Given the description of an element on the screen output the (x, y) to click on. 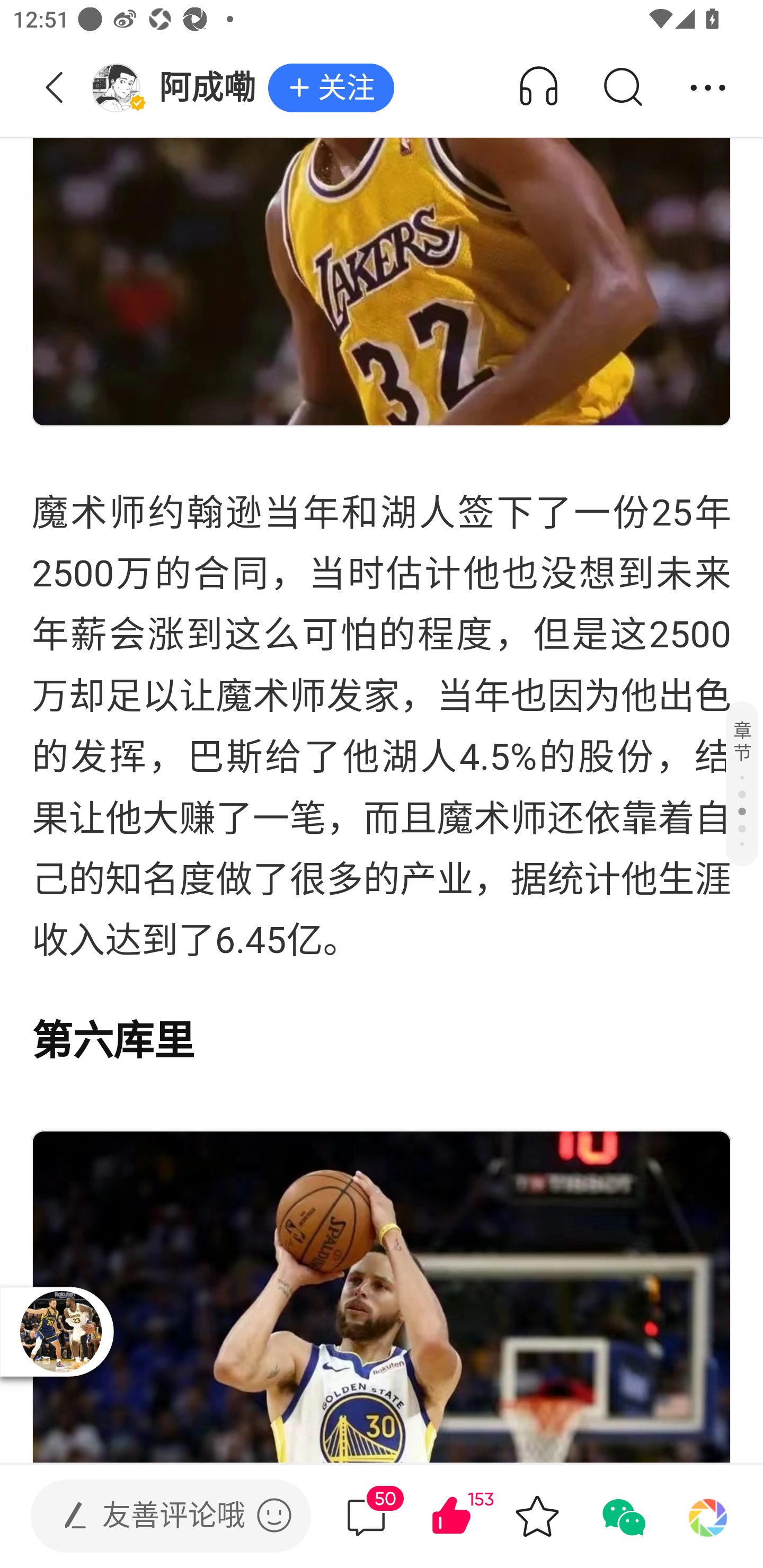
新闻图片 (381, 213)
阿成嘞 (179, 87)
搜索  (622, 87)
分享  (707, 87)
 返回 (54, 87)
 关注 (330, 88)
章节 (741, 782)
新闻图片 (381, 1296)
播放器 (60, 1331)
发表评论  友善评论哦 发表评论  (155, 1516)
50评论  50 评论 (365, 1516)
已赞 (476, 1516)
收藏  (536, 1516)
分享到微信  (622, 1516)
分享到朋友圈 (707, 1516)
 (274, 1515)
